Given the description of an element on the screen output the (x, y) to click on. 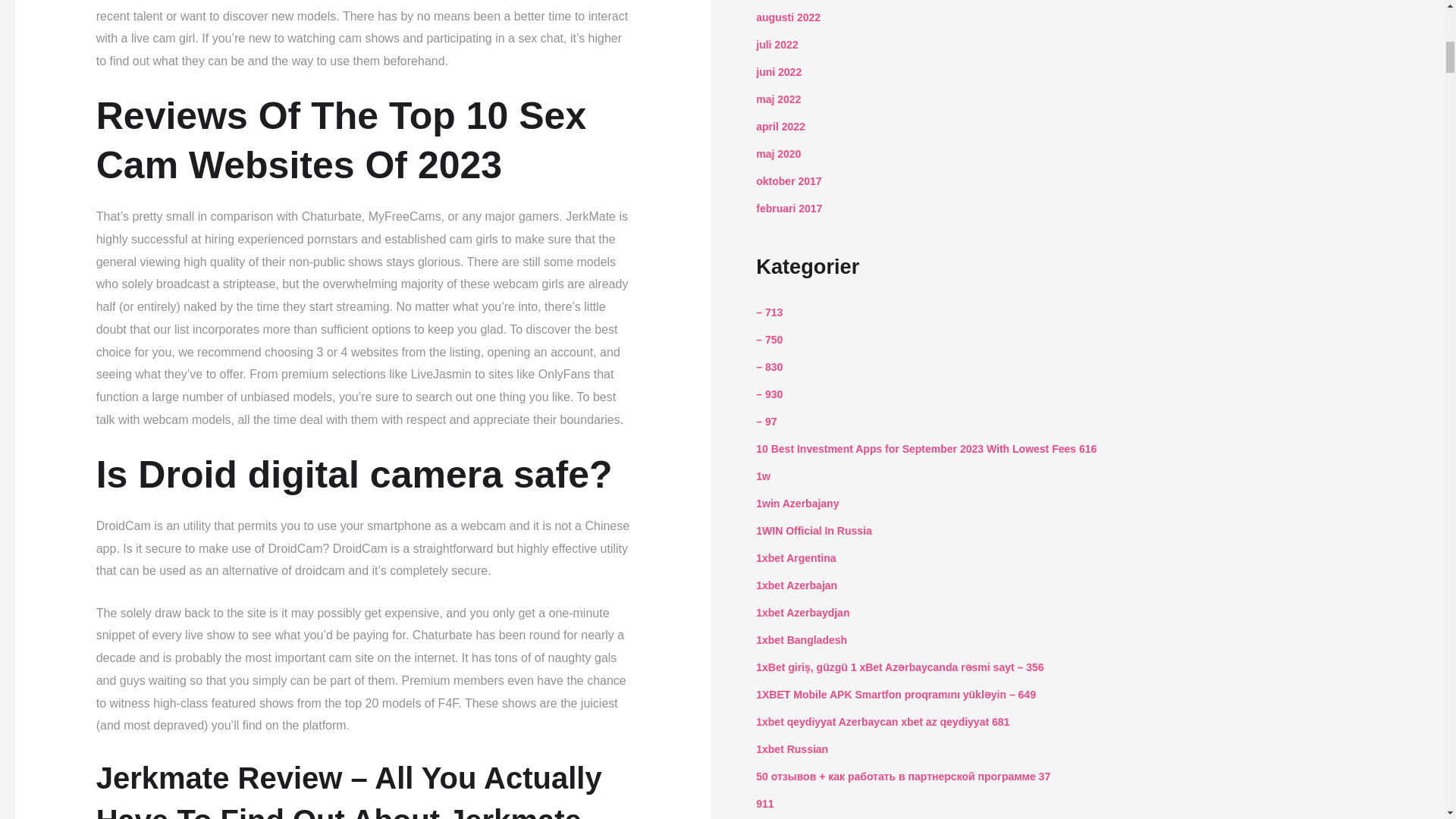
juli 2022 (776, 44)
oktober 2017 (788, 181)
februari 2017 (788, 208)
maj 2020 (777, 153)
maj 2022 (777, 99)
juni 2022 (778, 71)
april 2022 (780, 126)
augusti 2022 (788, 17)
